Given the description of an element on the screen output the (x, y) to click on. 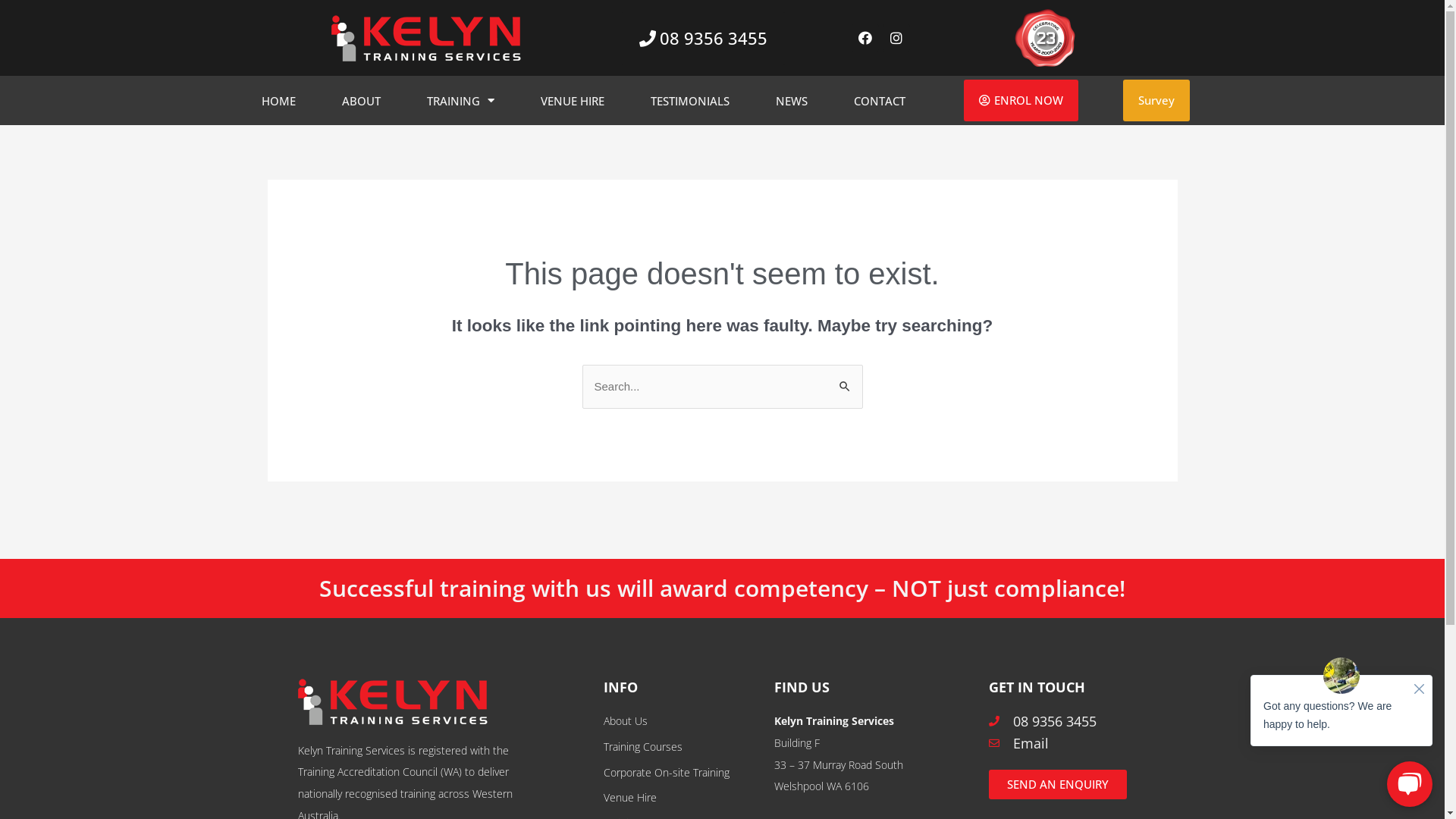
TRAINING Element type: text (460, 99)
Corporate On-site Training Element type: text (681, 773)
SEND AN ENQUIRY Element type: text (1057, 784)
08 9356 3455 Element type: text (1067, 721)
Facebook Element type: text (864, 37)
Sticker 2023 (002) Black Back Element type: hover (1044, 37)
NEWS Element type: text (791, 99)
Email Element type: text (1067, 743)
08 9356 3455 Element type: text (702, 38)
ENROL NOW Element type: text (1020, 100)
ABOUT Element type: text (361, 99)
HOME Element type: text (278, 99)
Instagram Element type: text (896, 37)
Training Courses Element type: text (681, 747)
TESTIMONIALS Element type: text (689, 99)
Venue Hire Element type: text (681, 798)
Survey Element type: text (1156, 100)
Search Element type: text (845, 379)
CONTACT Element type: text (879, 99)
VENUE HIRE Element type: text (572, 99)
About Us Element type: text (681, 721)
